Given the description of an element on the screen output the (x, y) to click on. 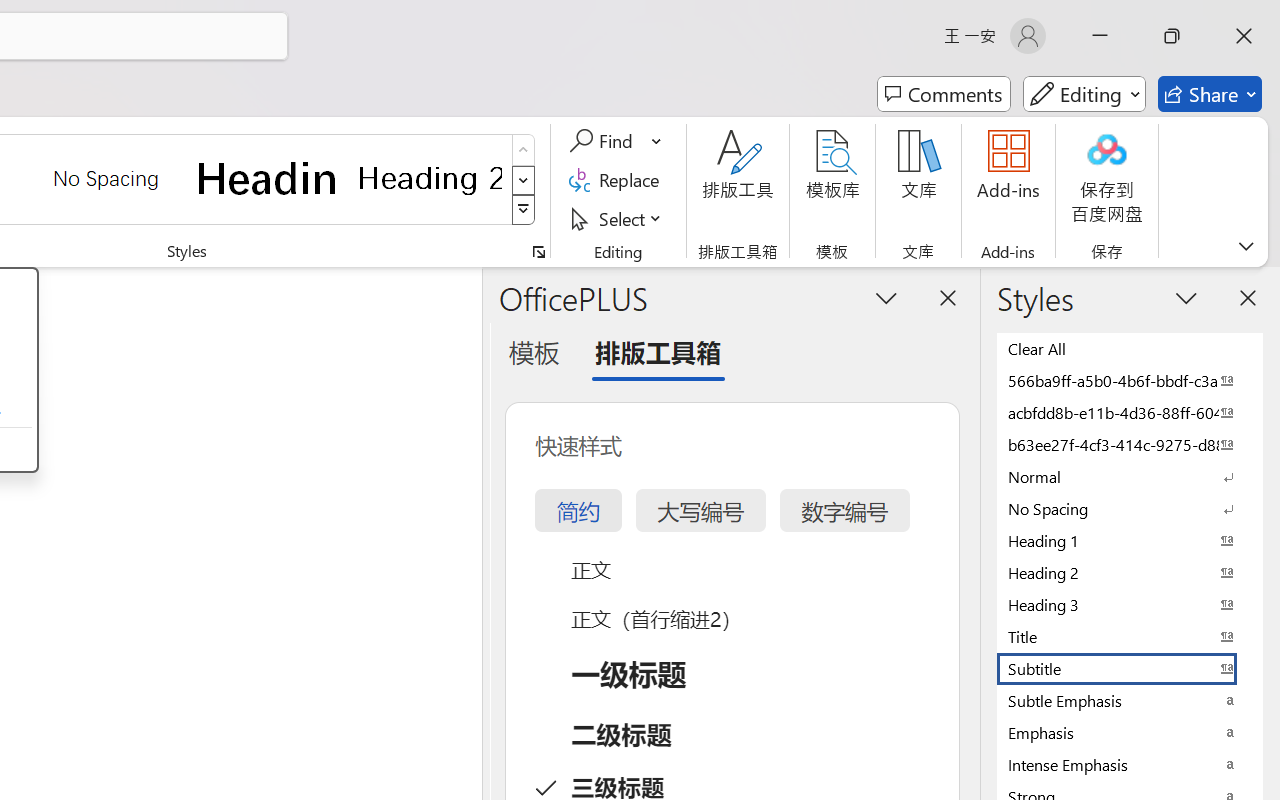
No Spacing (1130, 508)
b63ee27f-4cf3-414c-9275-d88e3f90795e (1130, 444)
Share (1210, 94)
Find (616, 141)
Task Pane Options (886, 297)
Heading 2 (429, 178)
Mode (1083, 94)
Subtitle (1130, 668)
